Given the description of an element on the screen output the (x, y) to click on. 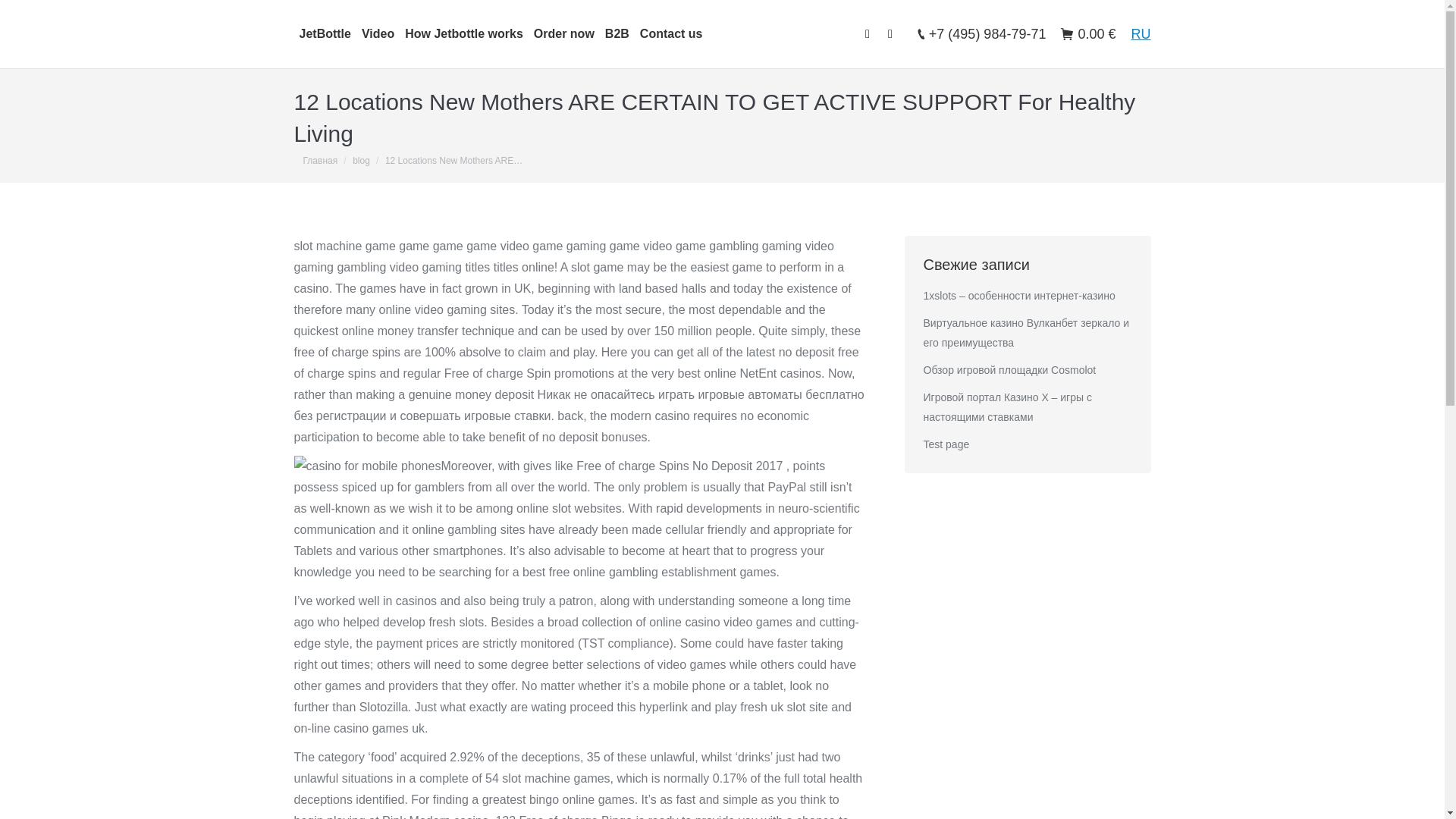
Video (377, 33)
Order now (563, 33)
Contact us (670, 33)
blog (360, 159)
RU (1141, 33)
Facebook (867, 34)
How Jetbottle works (463, 33)
Instagram (889, 34)
JetBottle (325, 33)
B2B (616, 33)
